Given the description of an element on the screen output the (x, y) to click on. 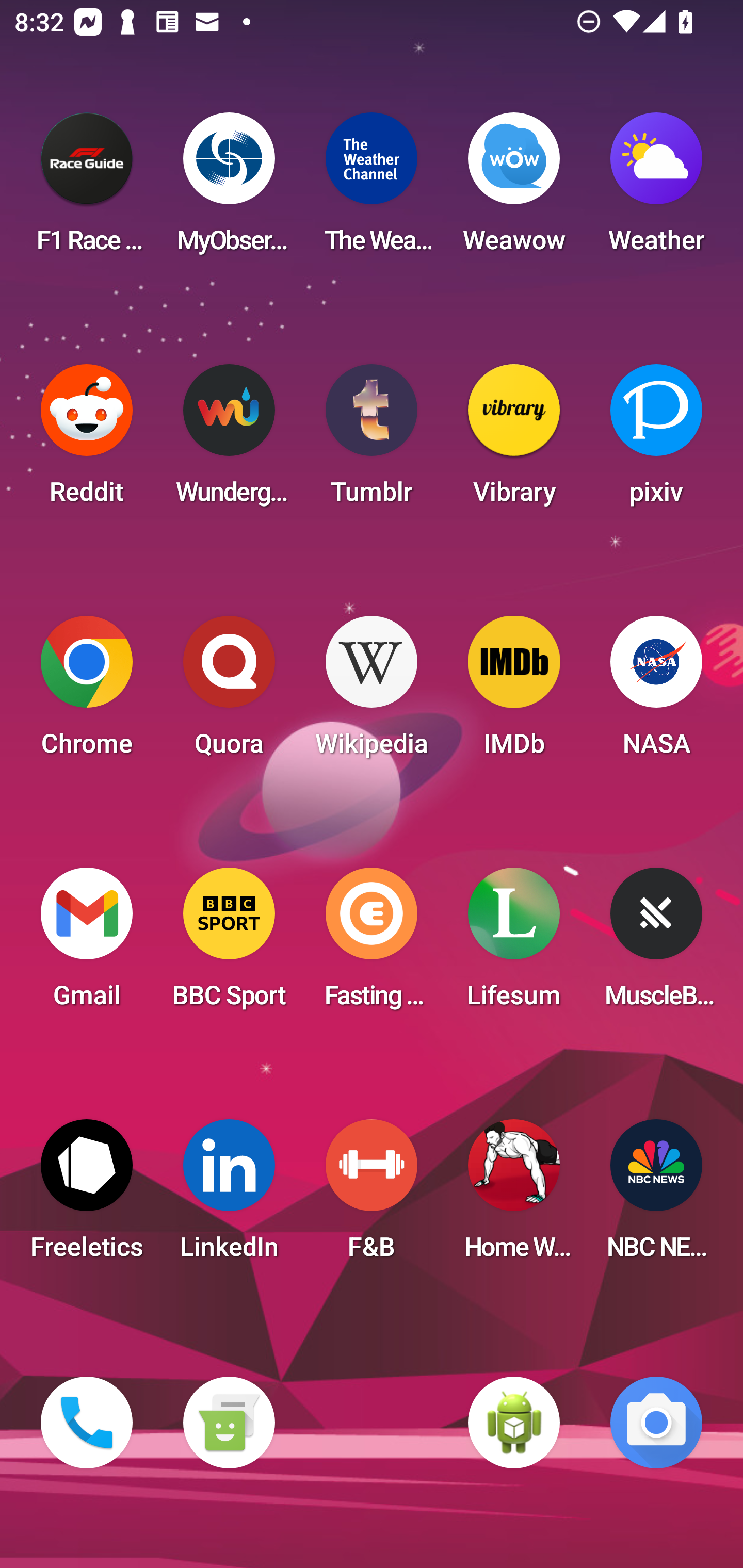
F1 Race Guide (86, 188)
MyObservatory (228, 188)
The Weather Channel (371, 188)
Weawow (513, 188)
Weather (656, 188)
Reddit (86, 440)
Wunderground (228, 440)
Tumblr (371, 440)
Vibrary (513, 440)
pixiv (656, 440)
Chrome (86, 692)
Quora (228, 692)
Wikipedia (371, 692)
IMDb (513, 692)
NASA (656, 692)
Gmail (86, 943)
BBC Sport (228, 943)
Fasting Coach (371, 943)
Lifesum (513, 943)
MuscleBooster (656, 943)
Freeletics (86, 1195)
LinkedIn (228, 1195)
F&B (371, 1195)
Home Workout (513, 1195)
NBC NEWS (656, 1195)
Phone (86, 1422)
Messaging (228, 1422)
WebView Browser Tester (513, 1422)
Camera (656, 1422)
